Given the description of an element on the screen output the (x, y) to click on. 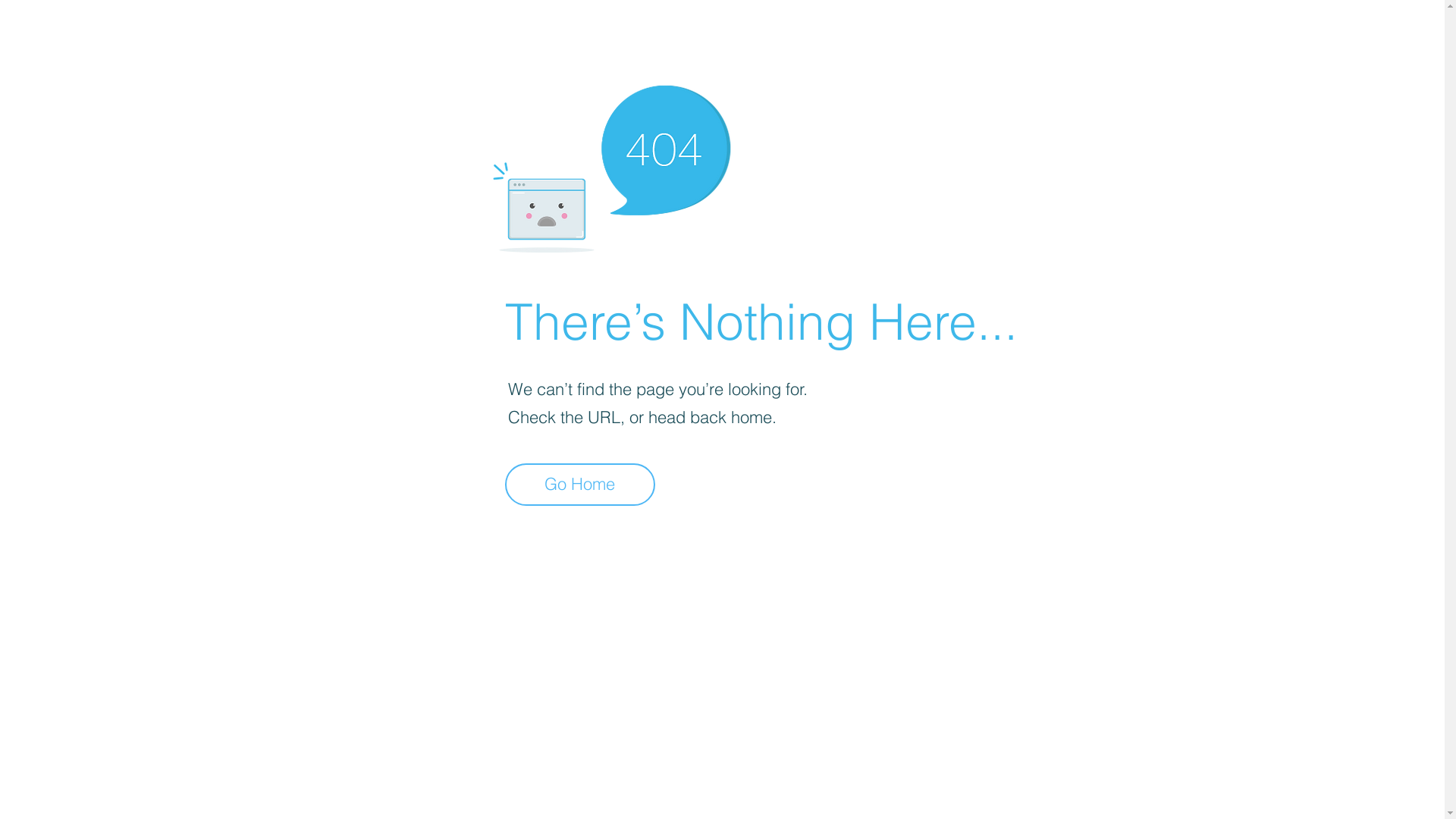
Go Home Element type: text (580, 484)
404-icon_2.png Element type: hover (610, 164)
